Given the description of an element on the screen output the (x, y) to click on. 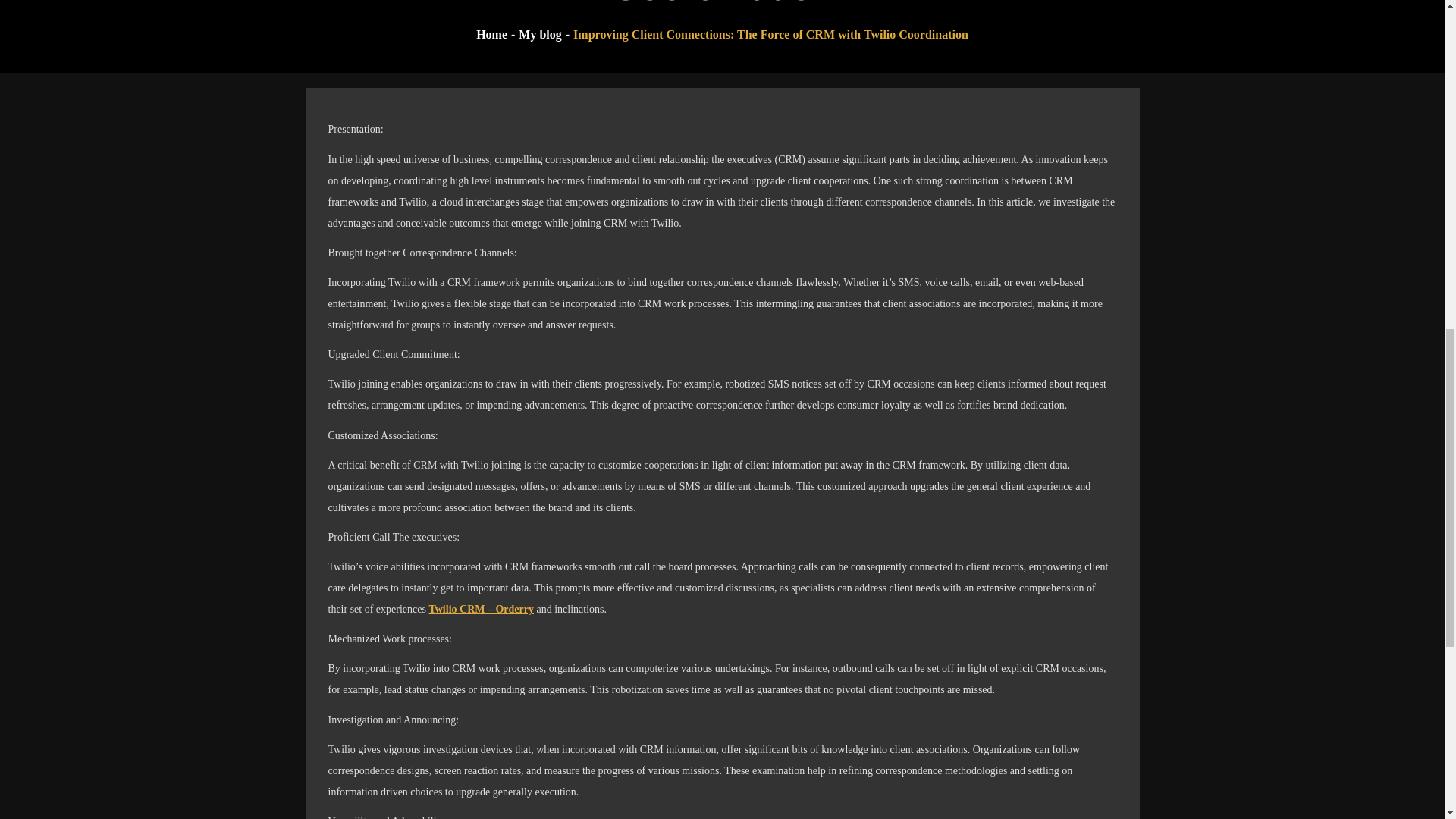
My blog (539, 33)
Home (491, 33)
